Given the description of an element on the screen output the (x, y) to click on. 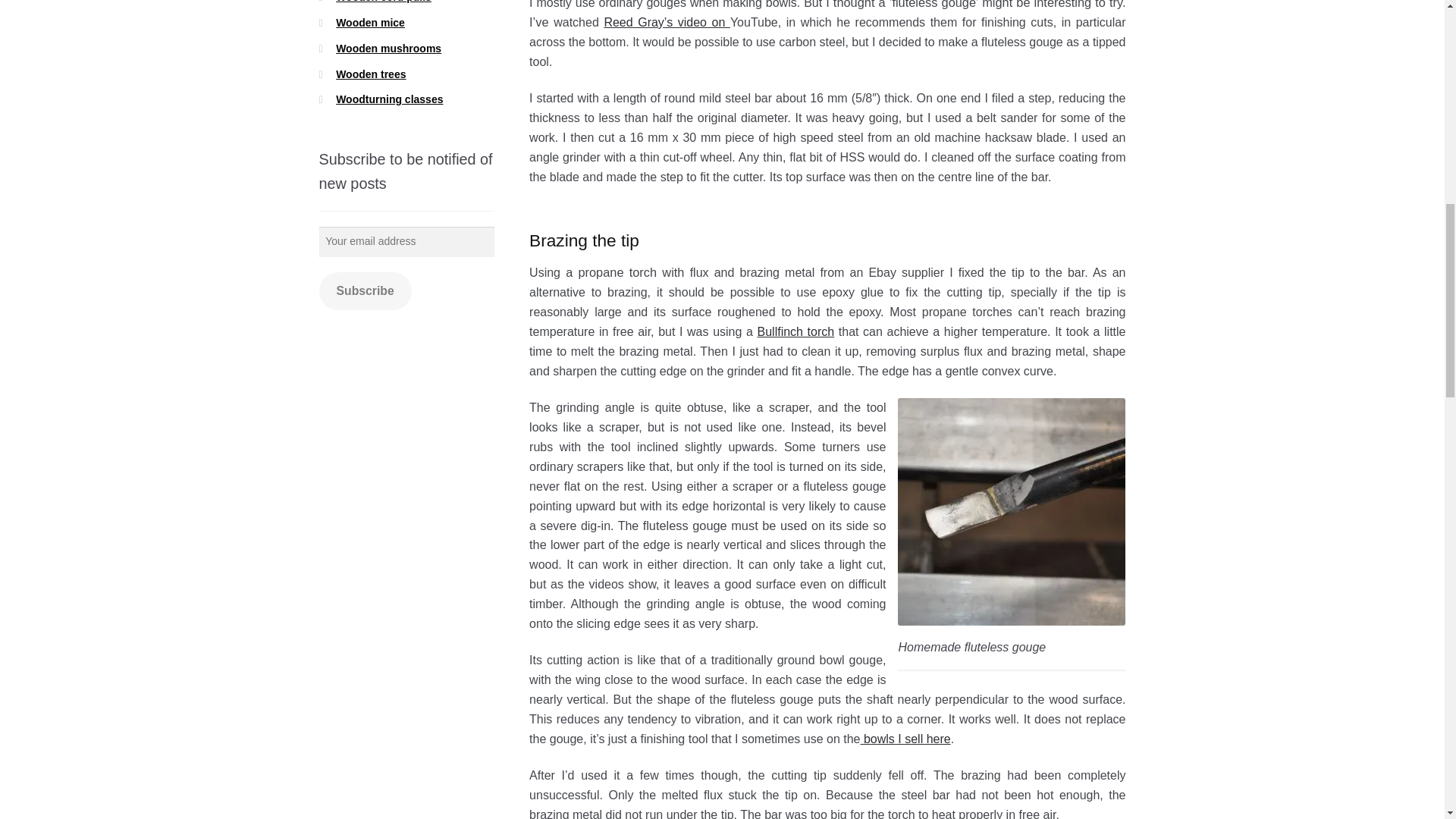
bowls I sell here (905, 738)
Bullfinch torch (795, 331)
